Given the description of an element on the screen output the (x, y) to click on. 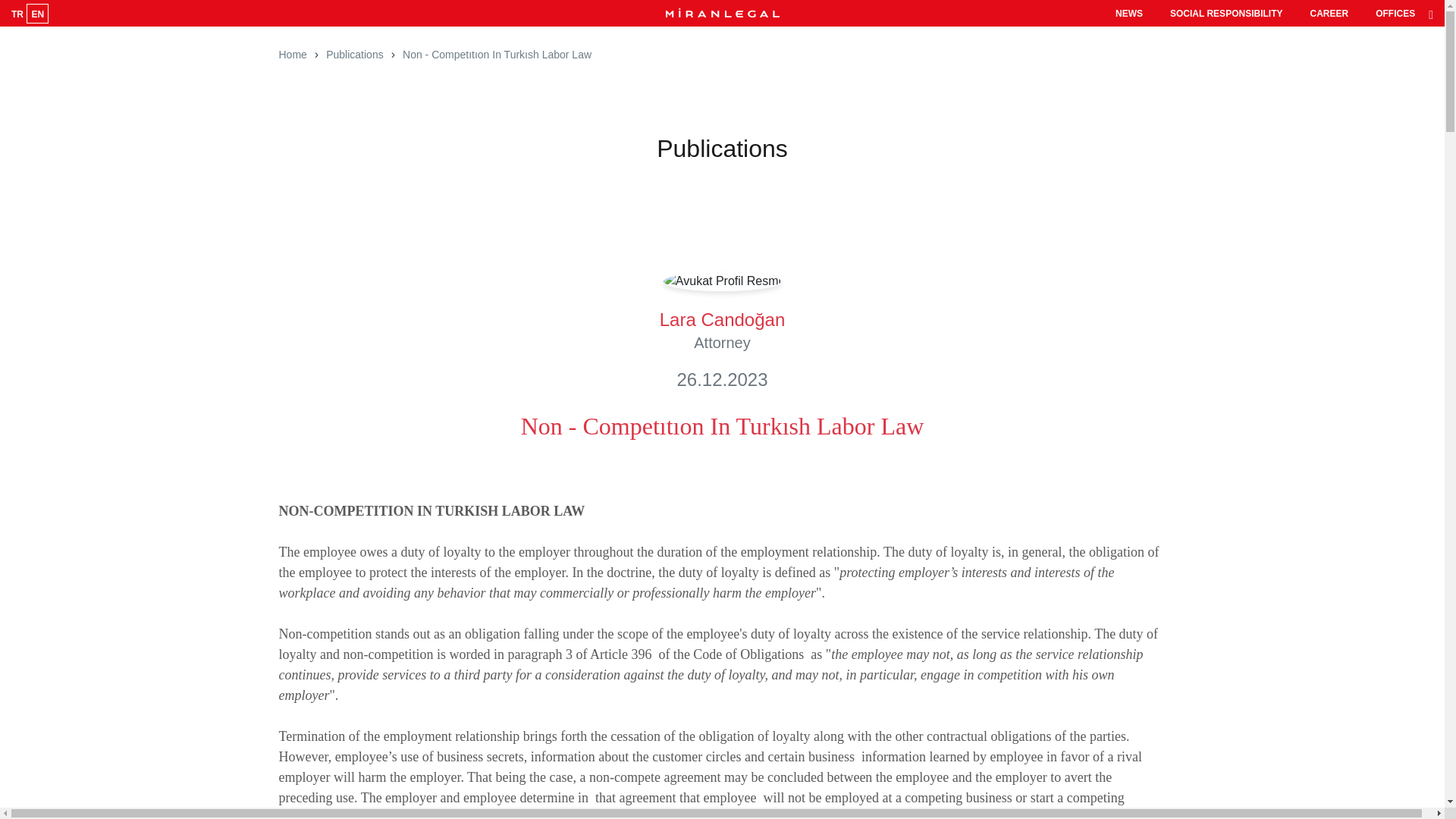
EN (37, 12)
NEWS (1128, 12)
SOCIAL RESPONSIBILITY (1225, 12)
OFFICES (1395, 12)
Publications (355, 54)
CAREER (1328, 12)
Home (293, 54)
